Given the description of an element on the screen output the (x, y) to click on. 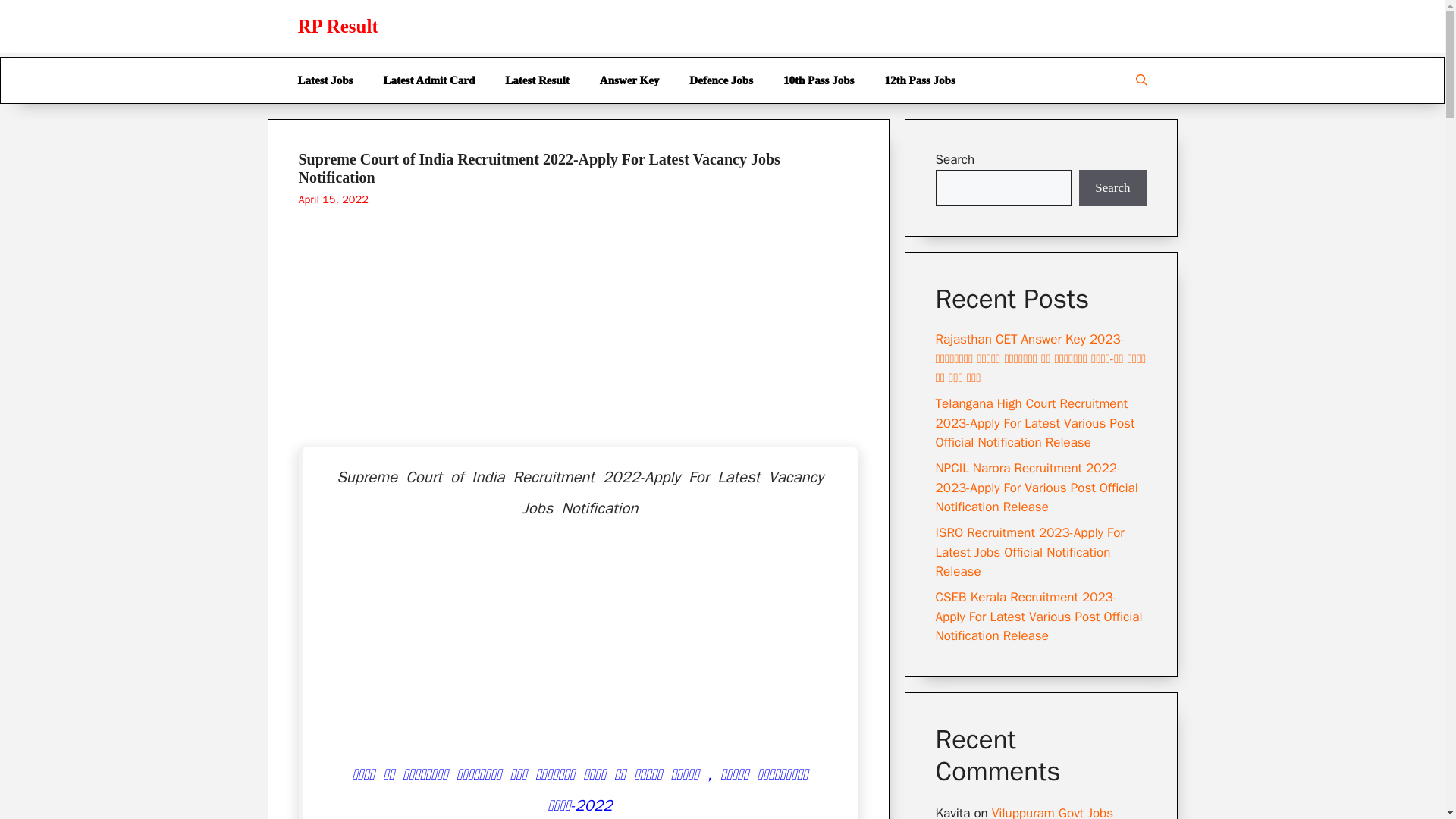
Answer Key (629, 80)
RP Result (337, 25)
Latest Result (537, 80)
12th Pass Jobs (919, 80)
Search (1111, 187)
Advertisement (579, 653)
10th Pass Jobs (818, 80)
Latest Admit Card (428, 80)
Advertisement (577, 340)
Latest Jobs (325, 80)
